Given the description of an element on the screen output the (x, y) to click on. 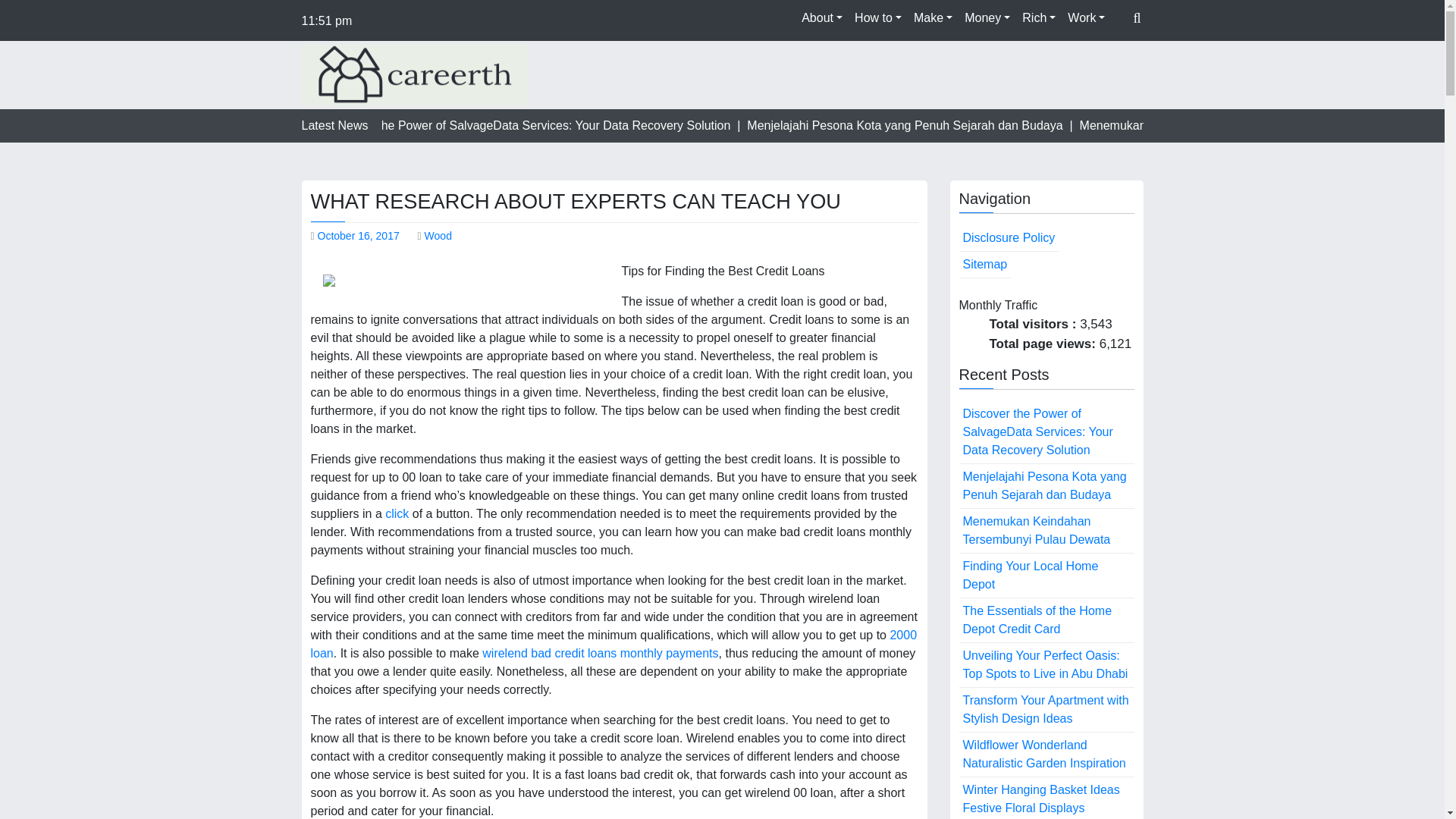
About (821, 18)
October 16, 2017 (357, 235)
wirelend bad credit loans monthly payments (599, 653)
Rich (1038, 18)
Make (932, 18)
How to (877, 18)
2000 loan (614, 644)
Search (1105, 54)
Wood (438, 235)
click (397, 513)
Money (987, 18)
Work (1085, 18)
